Given the description of an element on the screen output the (x, y) to click on. 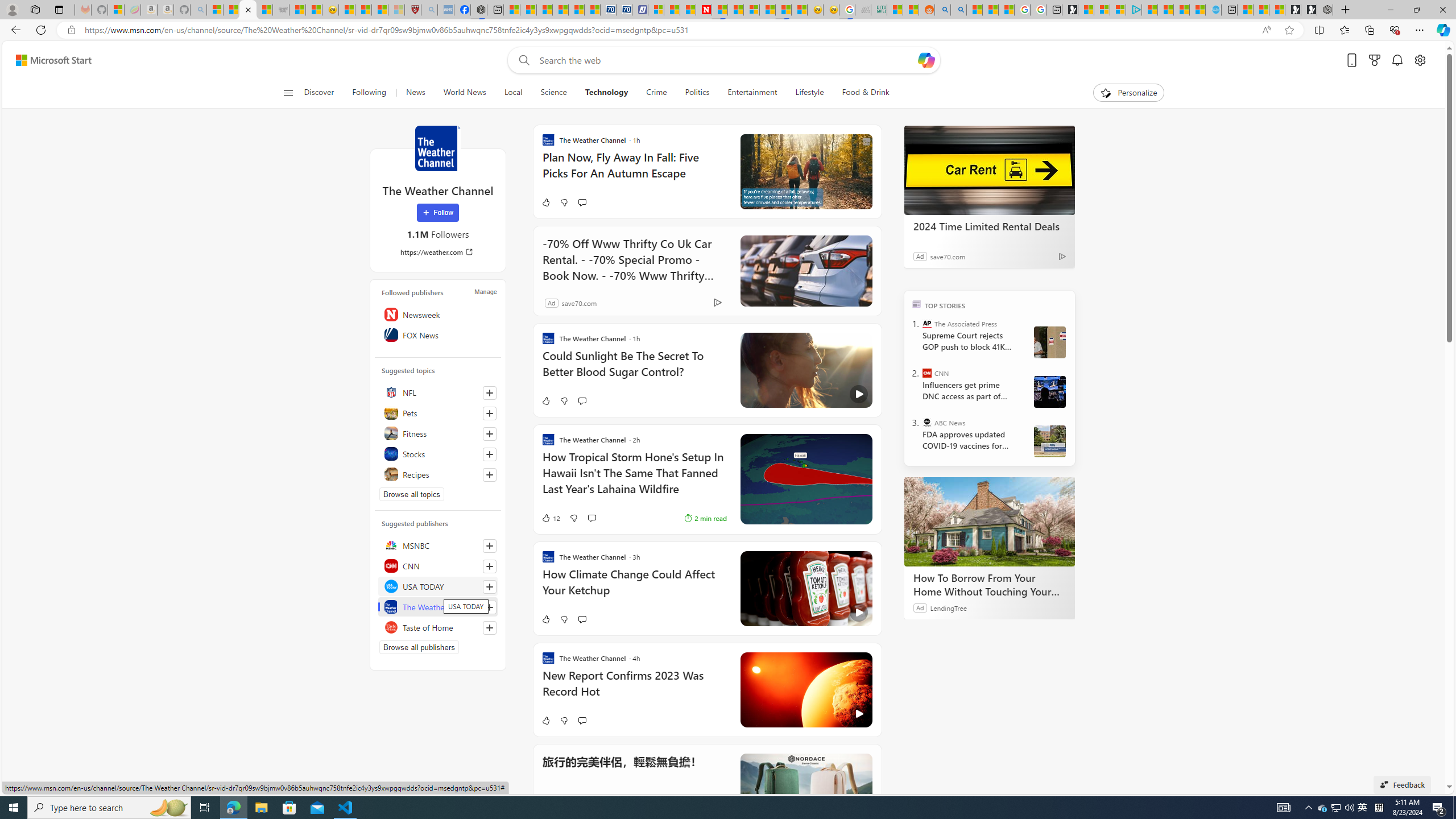
FOX News (437, 334)
Browse all publishers (419, 647)
Plan Now, Fly Away In Fall: Five Picks For An Autumn Escape (633, 171)
ABC News (927, 422)
